Given the description of an element on the screen output the (x, y) to click on. 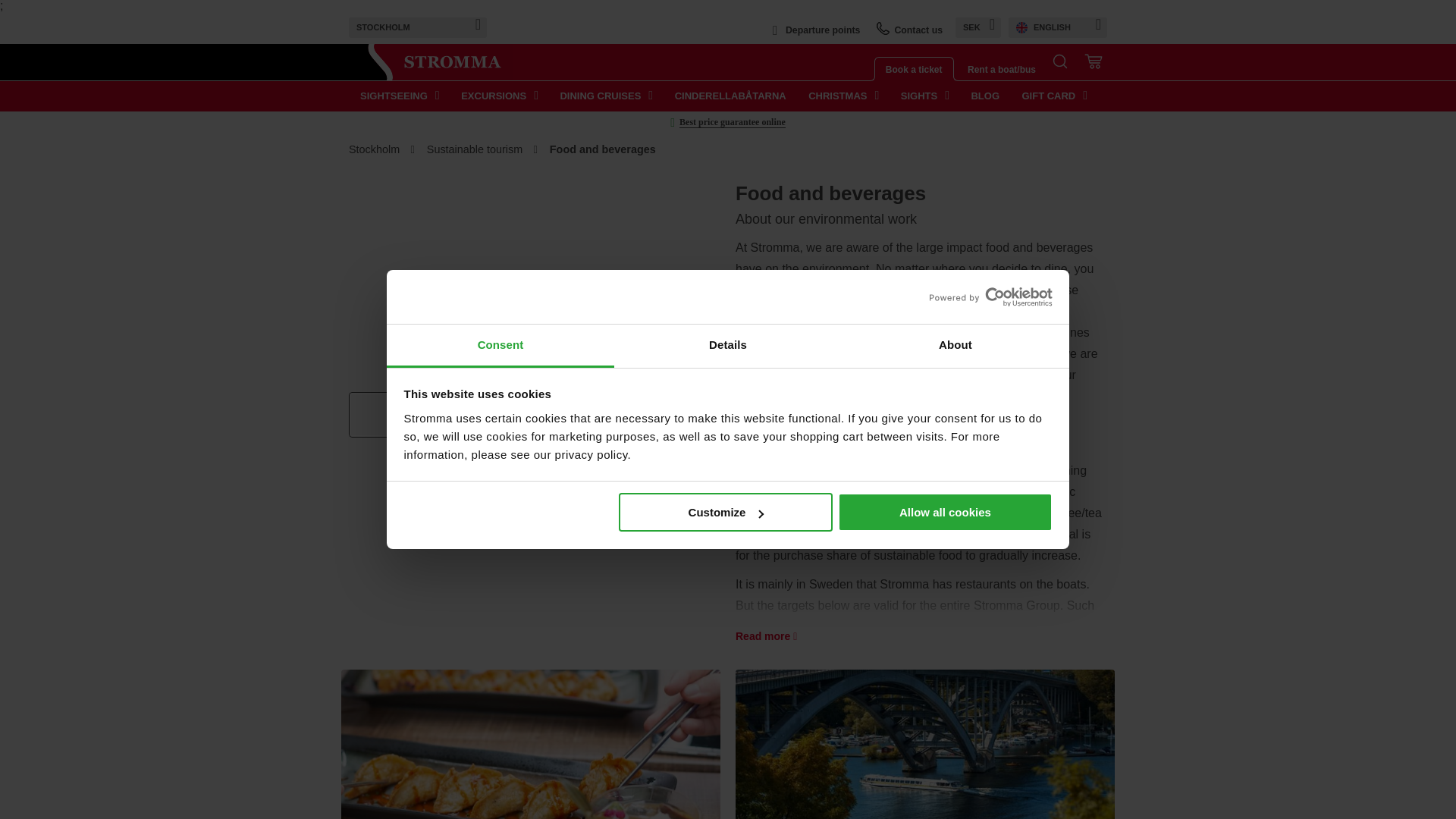
Details (727, 345)
About (954, 345)
Consent (500, 345)
